Given the description of an element on the screen output the (x, y) to click on. 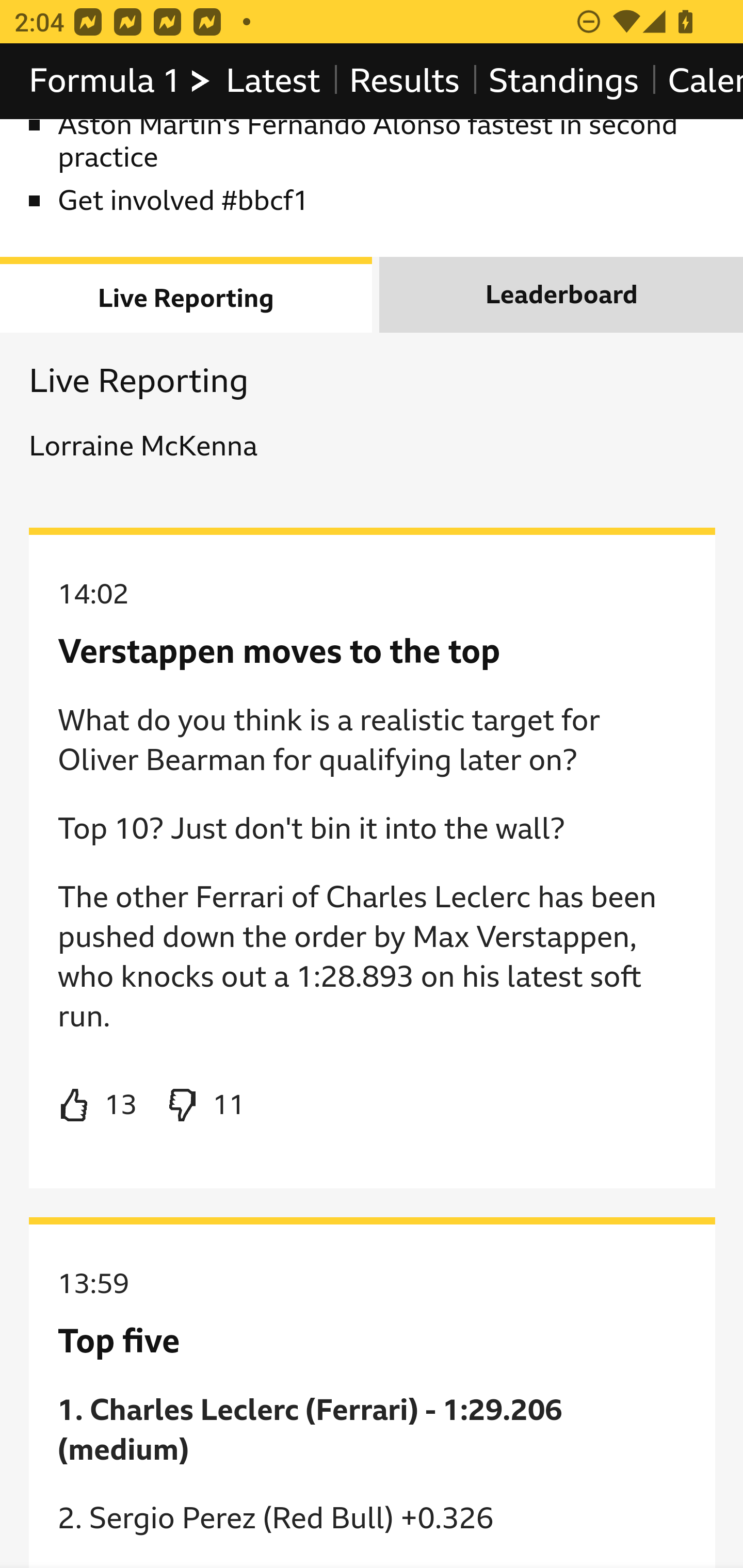
Live Reporting (186, 295)
Leaderboard (560, 295)
Like (97, 1105)
Dislike (204, 1105)
